Given the description of an element on the screen output the (x, y) to click on. 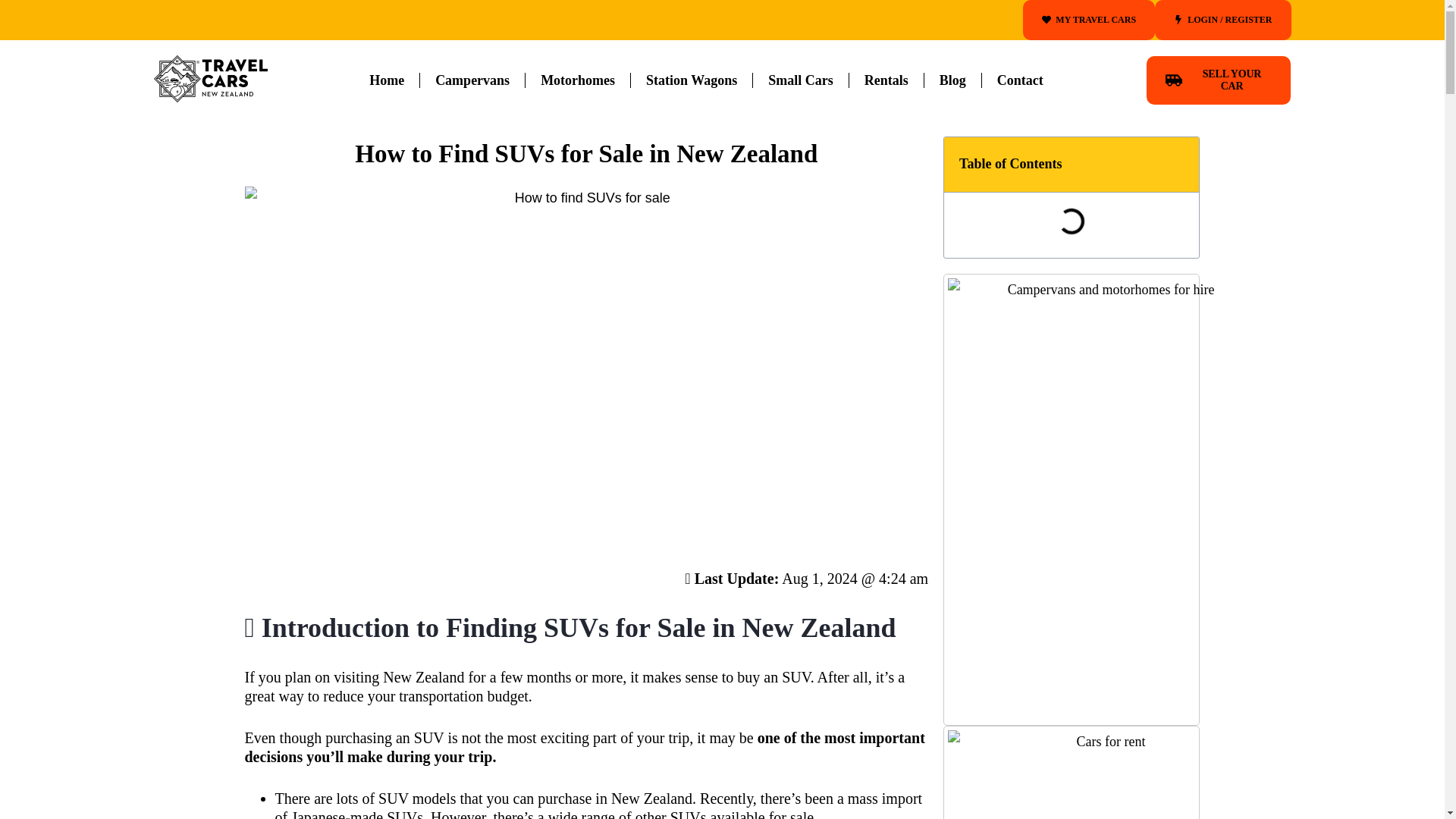
Home (386, 80)
Small Cars (800, 80)
Motorhomes (577, 80)
Station Wagons (691, 80)
Contact (1019, 80)
Blog (952, 80)
Rentals (885, 80)
Campervans (472, 80)
MY TRAVEL CARS (1088, 20)
SELL YOUR CAR (1218, 80)
